Given the description of an element on the screen output the (x, y) to click on. 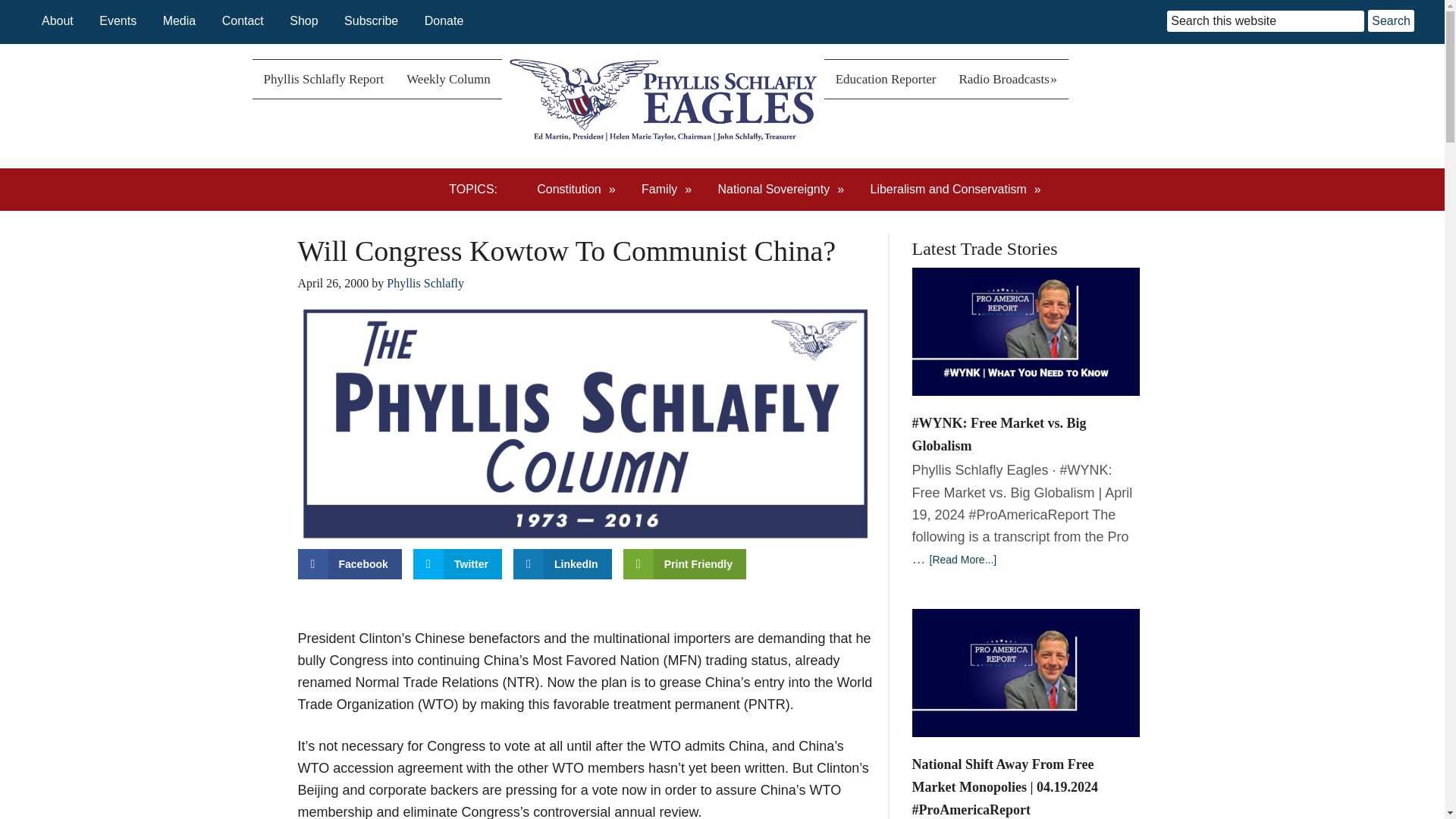
Search (1390, 20)
Phyllis Schlafly Report (322, 78)
Donate (444, 20)
Shop (303, 20)
Subscribe (370, 20)
Search (1390, 20)
Education Reporter (885, 78)
Media (179, 20)
Radio Broadcasts (1007, 78)
Weekly Column (448, 78)
Search (1390, 20)
TOPICS:     (480, 189)
Contact (242, 20)
About (58, 20)
Events (117, 20)
